Given the description of an element on the screen output the (x, y) to click on. 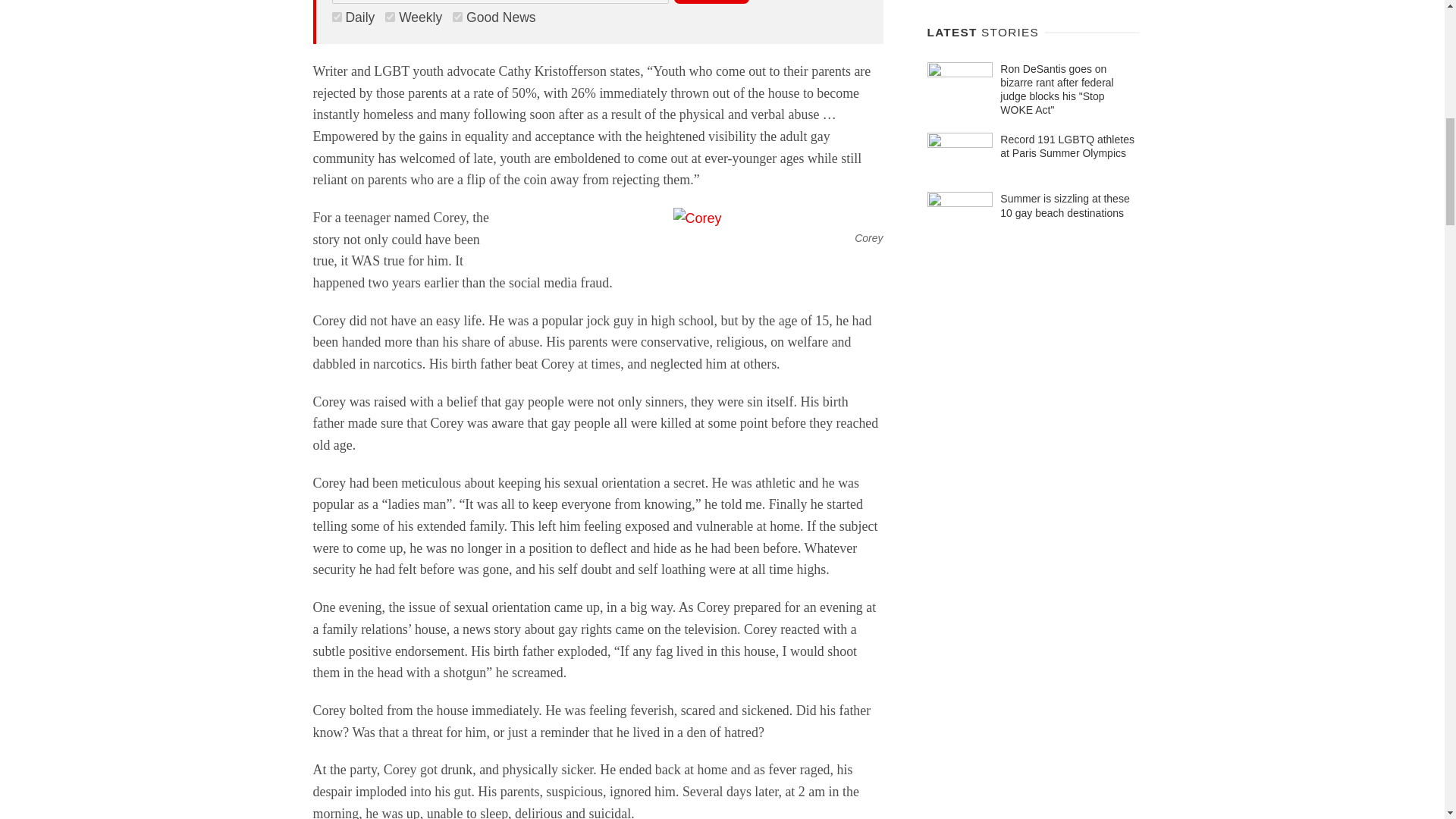
Sign Up (711, 2)
1920884 (389, 17)
1920885 (336, 17)
1920883 (457, 17)
